Given the description of an element on the screen output the (x, y) to click on. 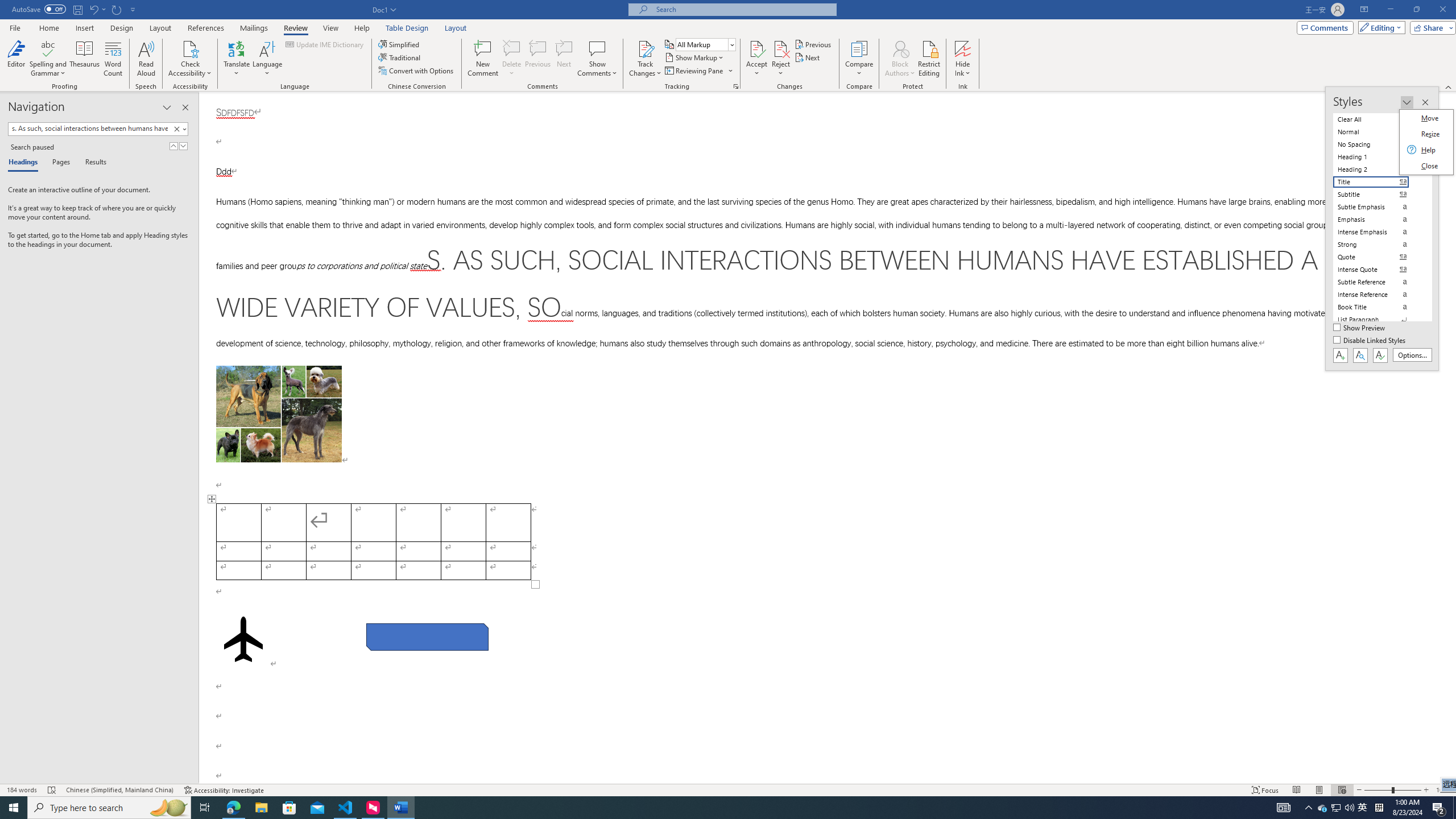
Reviewing Pane (694, 69)
Quote (1377, 256)
Show Comments (597, 48)
Next (808, 56)
Book Title (1377, 306)
Previous Result (173, 145)
